Given the description of an element on the screen output the (x, y) to click on. 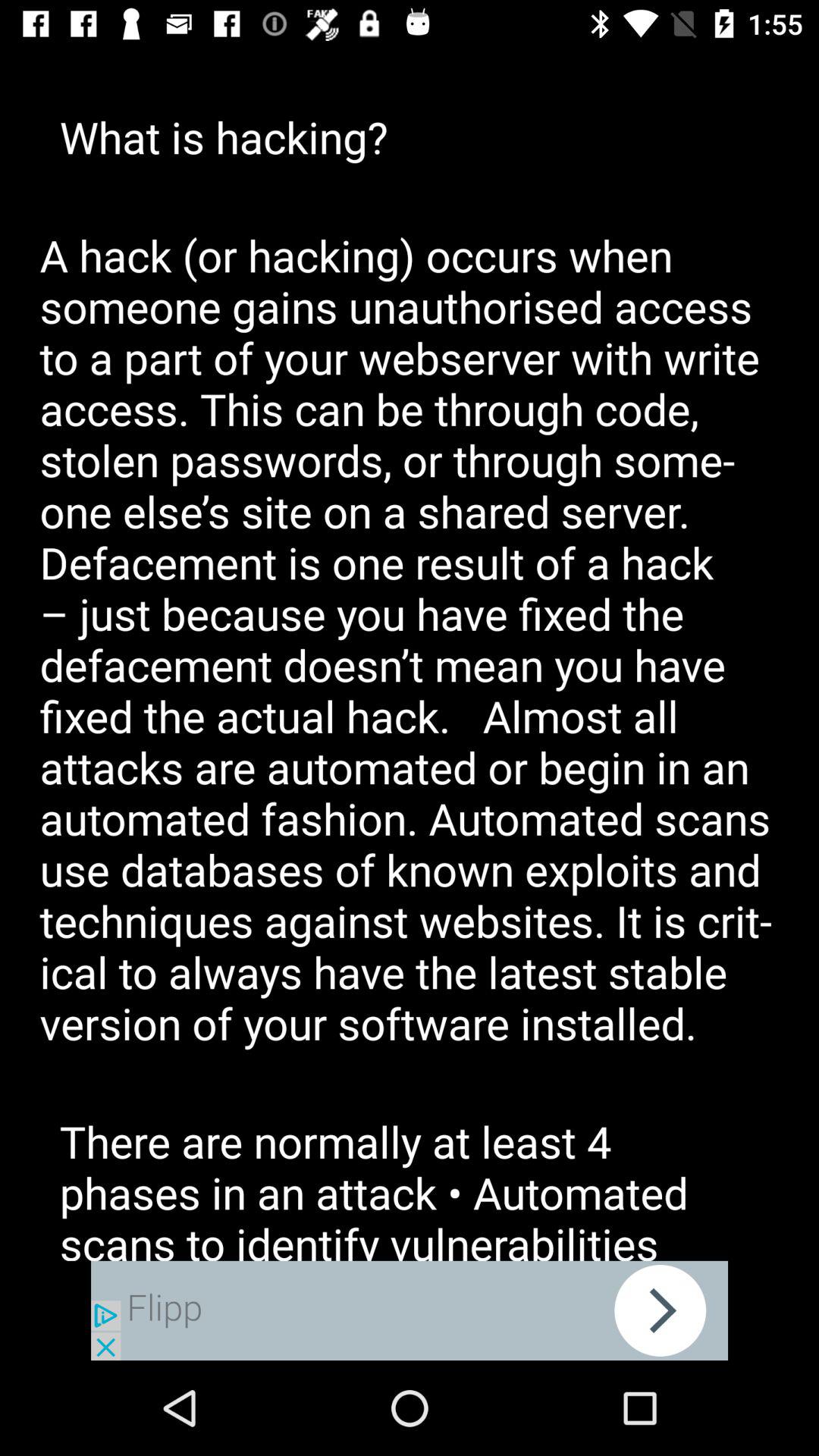
pop up advertisement (409, 1310)
